Given the description of an element on the screen output the (x, y) to click on. 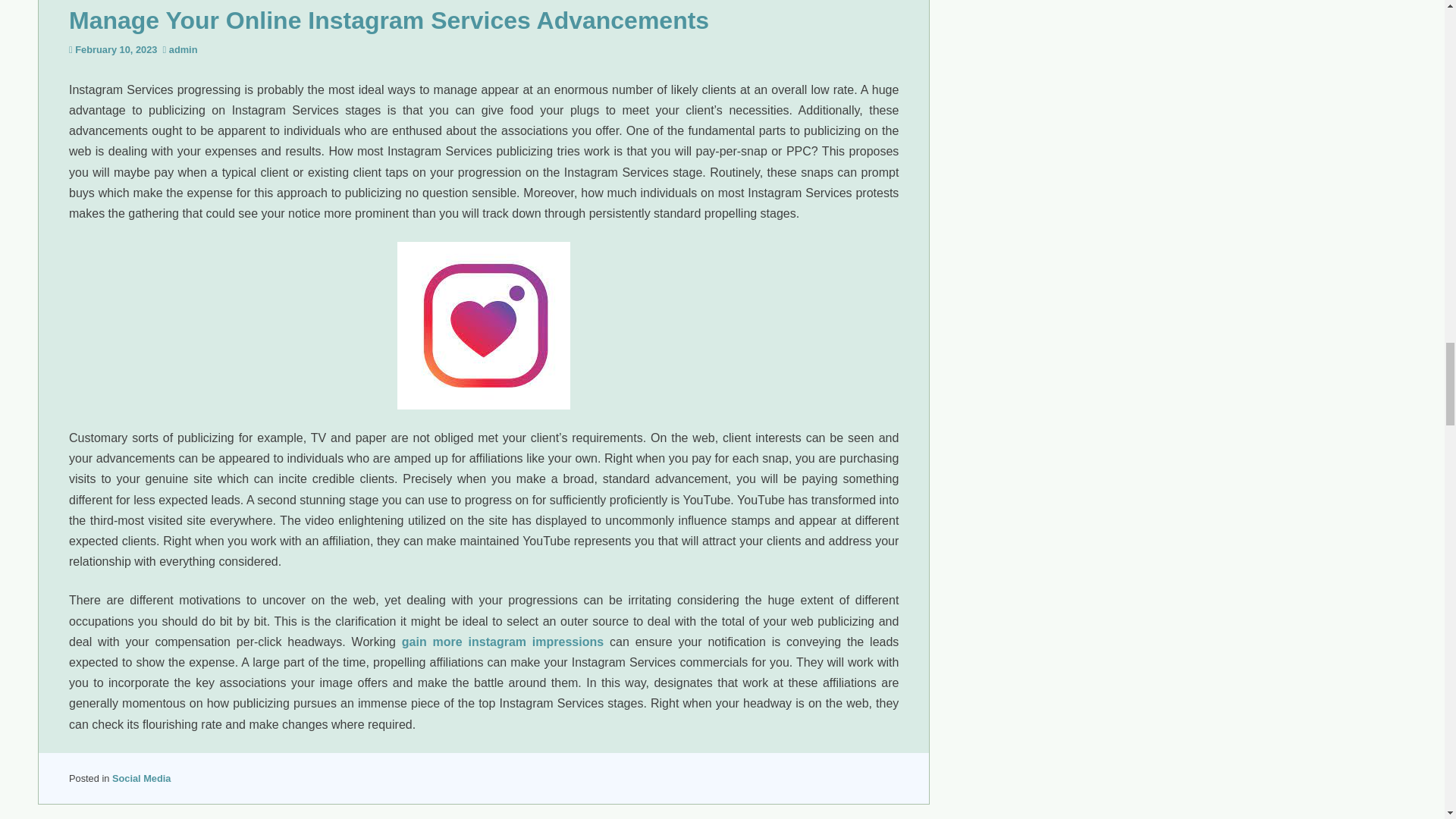
gain more instagram impressions (502, 641)
admin (183, 49)
February 10, 2023 (116, 49)
Social Media (141, 778)
Manage Your Online Instagram Services Advancements (388, 20)
